Given the description of an element on the screen output the (x, y) to click on. 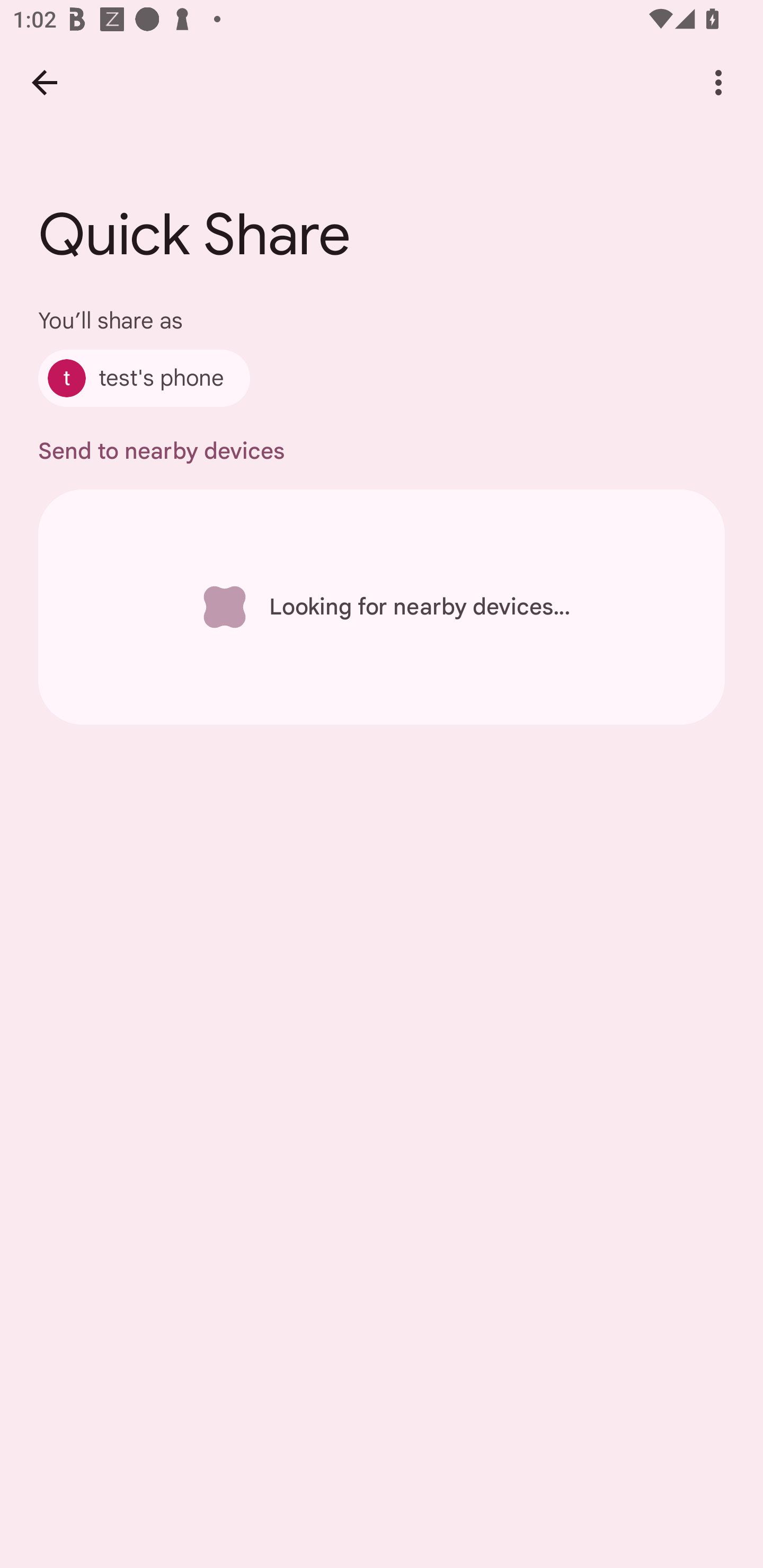
Back (44, 81)
More (718, 81)
test's phone (144, 378)
